Given the description of an element on the screen output the (x, y) to click on. 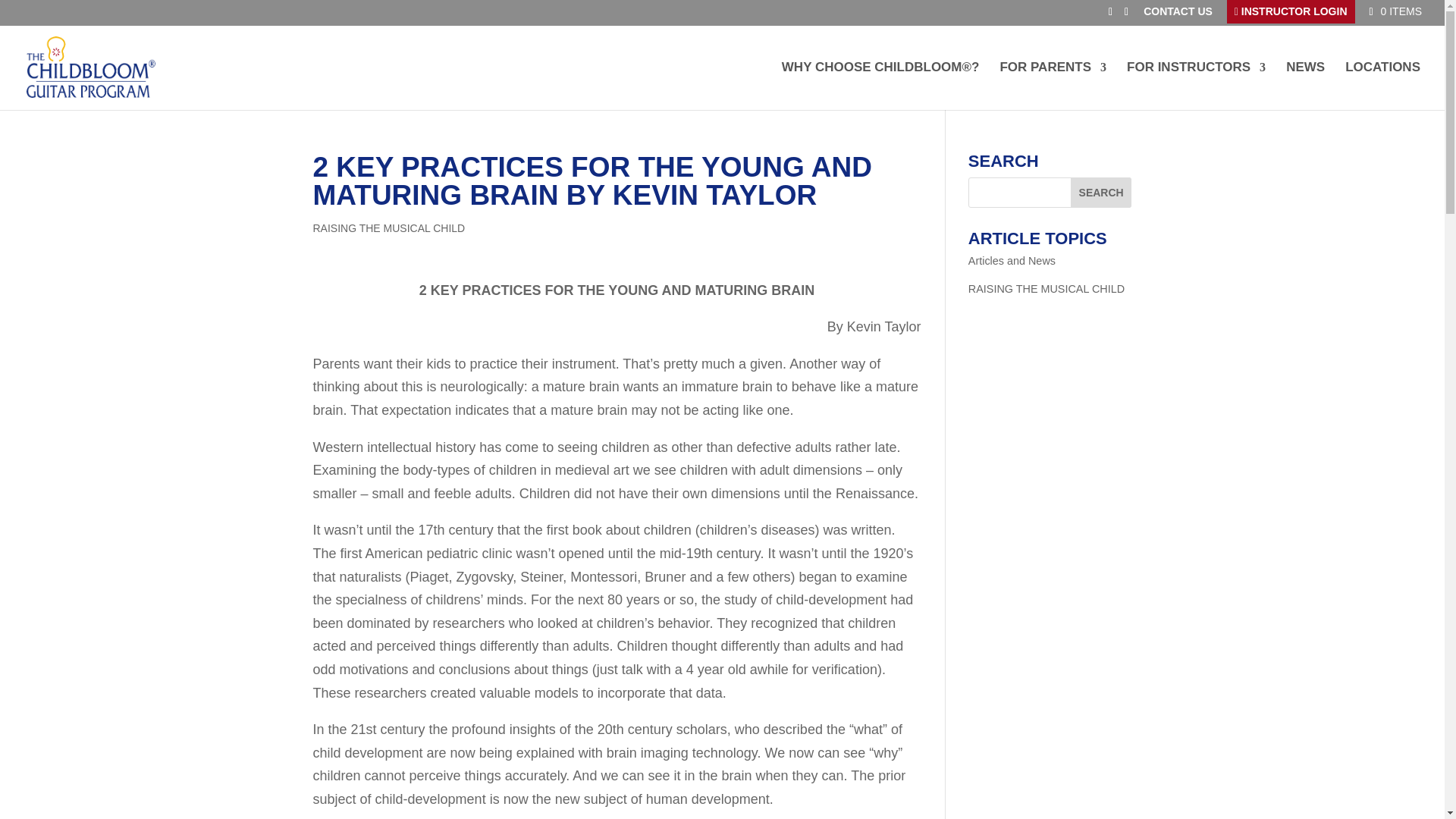
FOR PARENTS (1052, 85)
0 ITEMS (1394, 10)
Search (1101, 192)
CONTACT US (1177, 11)
RAISING THE MUSICAL CHILD (1046, 288)
LOCATIONS (1383, 85)
INSTRUCTOR LOGIN (1291, 11)
Articles and News (1011, 260)
FOR INSTRUCTORS (1195, 85)
Search (1101, 192)
RAISING THE MUSICAL CHILD (388, 227)
